Given the description of an element on the screen output the (x, y) to click on. 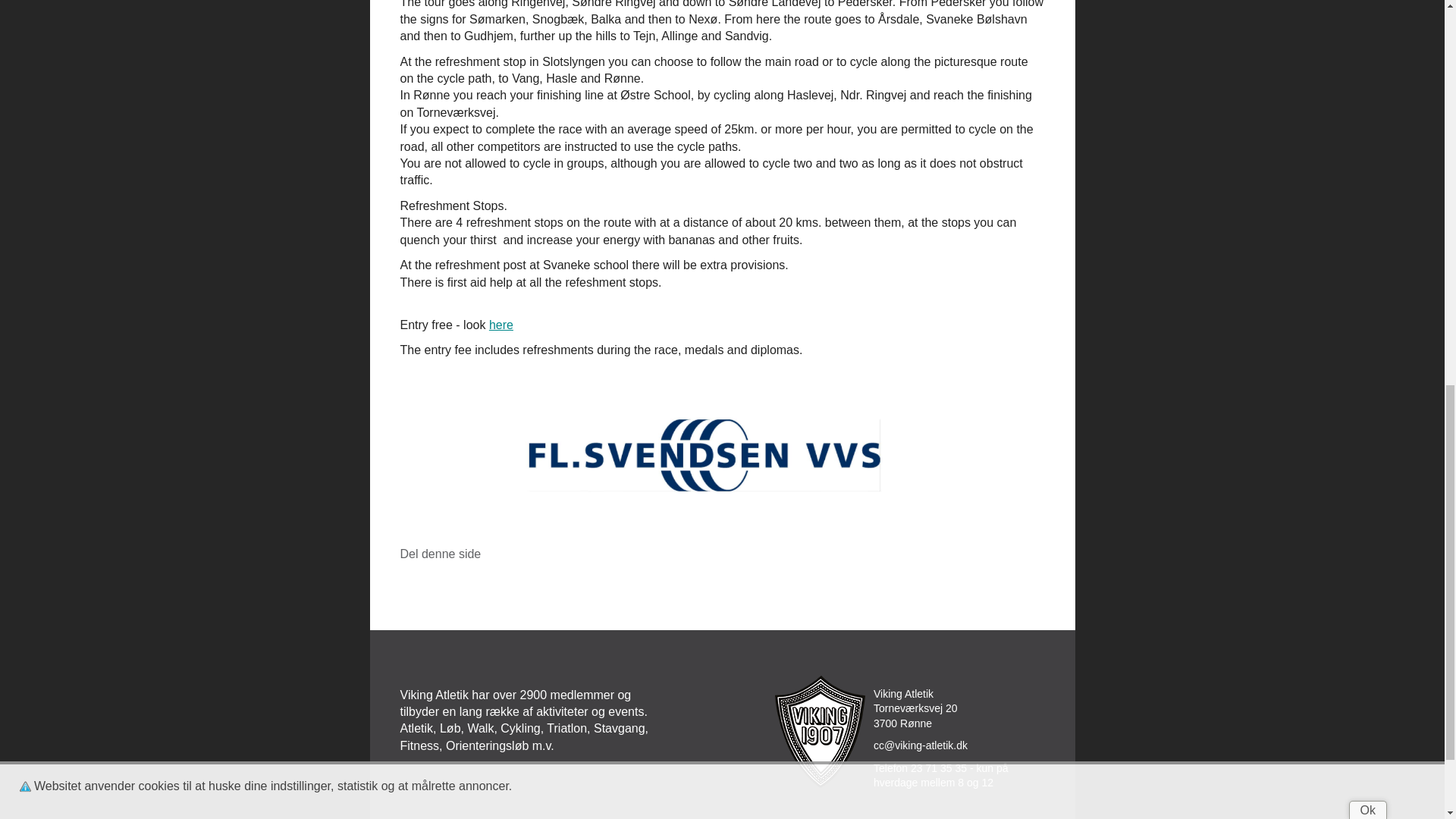
Tilmelding (501, 324)
here (501, 324)
